Given the description of an element on the screen output the (x, y) to click on. 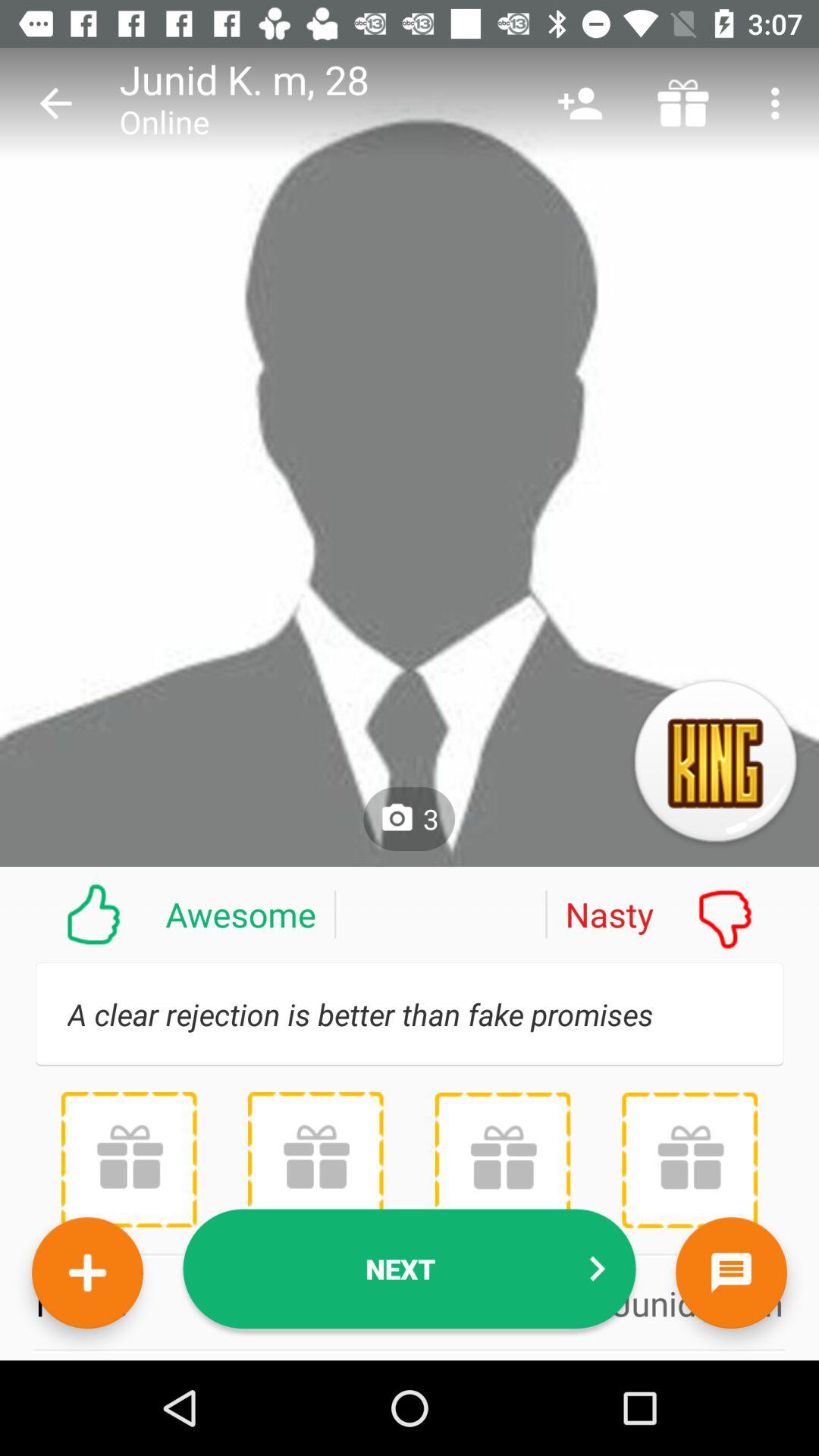
click icon to the right of  m, 28 item (579, 103)
